Given the description of an element on the screen output the (x, y) to click on. 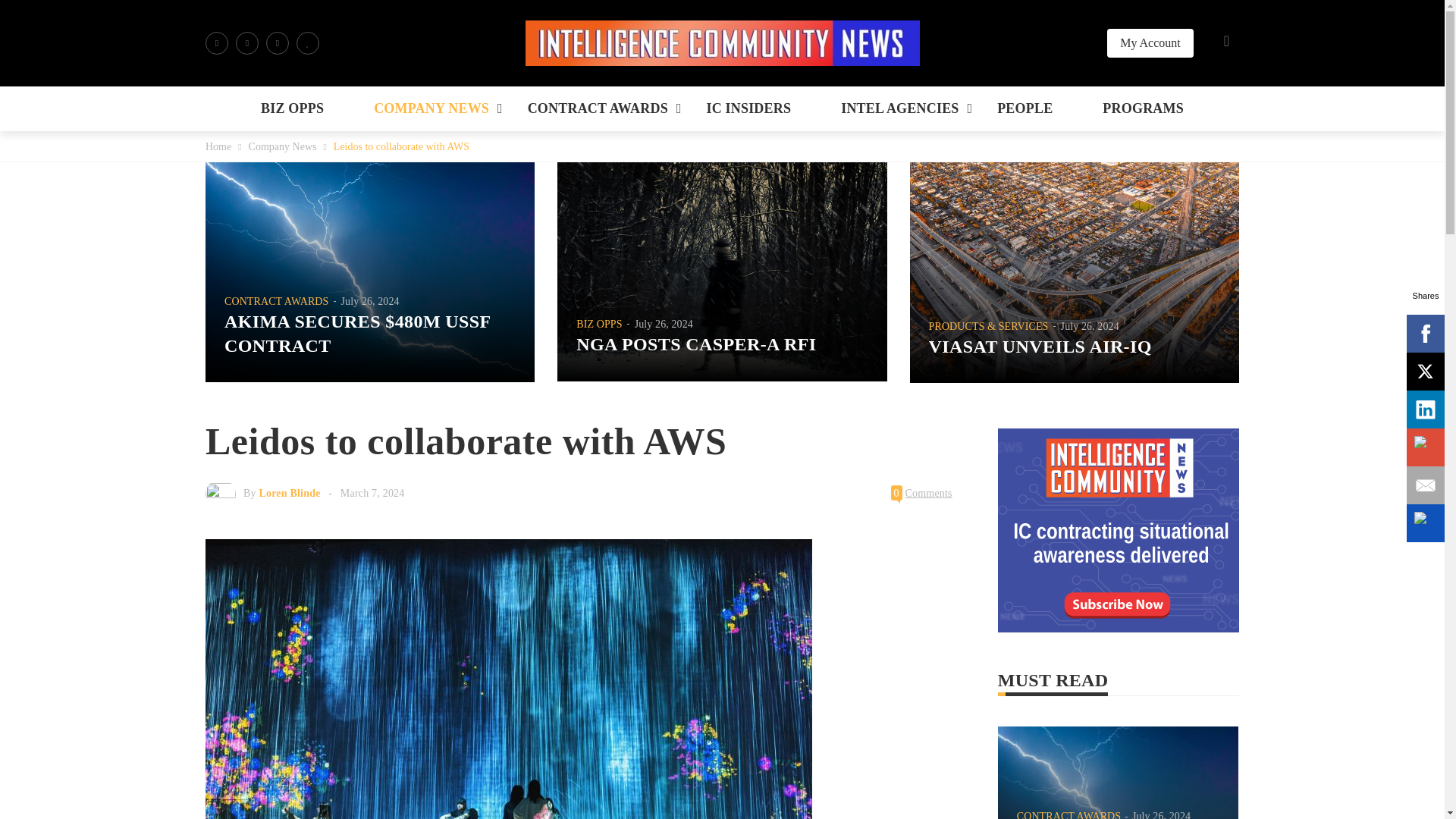
IC INSIDERS (748, 108)
Company News (282, 146)
BIZ OPPS (292, 108)
CONTRACT AWARDS (597, 108)
Company News (282, 146)
INTEL AGENCIES (899, 108)
COMPANY NEWS (431, 108)
Home (218, 146)
PROGRAMS (1142, 108)
PEOPLE (1024, 108)
Posts by Loren Blinde (289, 492)
My Account (1149, 42)
Home (218, 146)
